Given the description of an element on the screen output the (x, y) to click on. 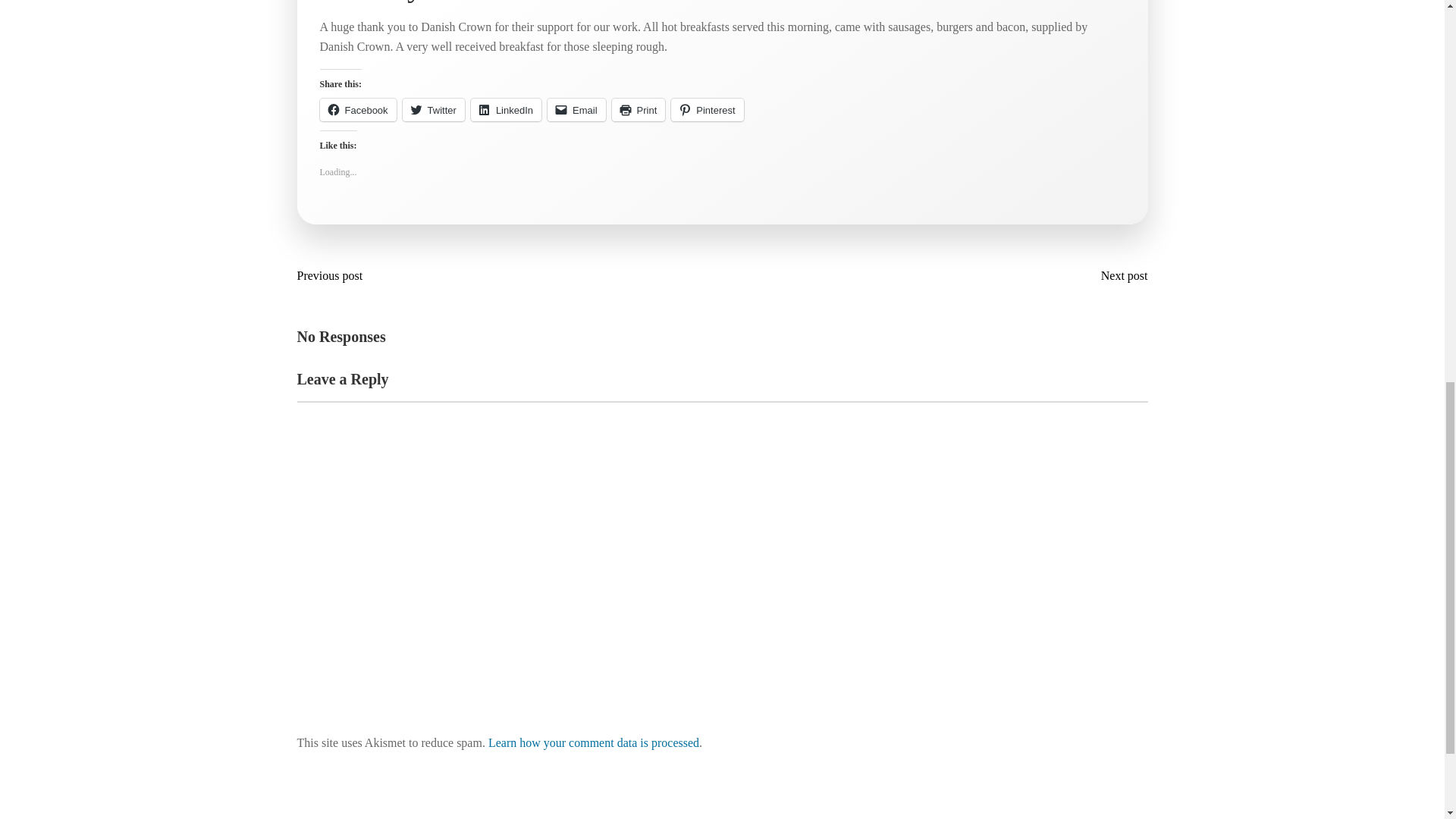
Print (638, 109)
Previous post (334, 275)
Click to email a link to a friend (576, 109)
Pinterest (706, 109)
Click to share on LinkedIn (505, 109)
Click to share on Twitter (433, 109)
Next post (1120, 275)
Twitter (433, 109)
Facebook (358, 109)
